Given the description of an element on the screen output the (x, y) to click on. 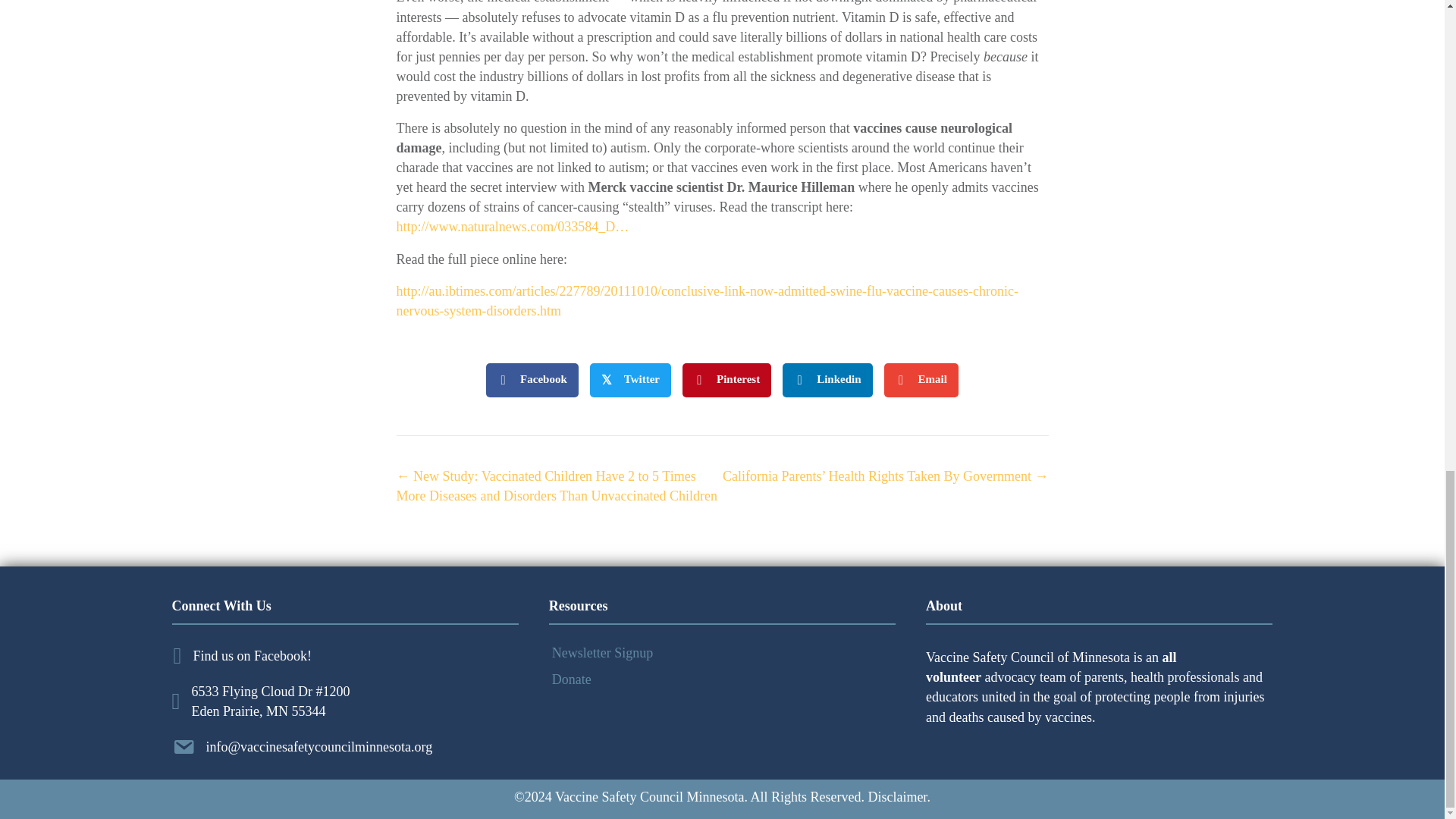
Facebook (532, 380)
Connect With Us (220, 605)
About (944, 605)
Resources (578, 605)
About (944, 605)
Pinterest (726, 380)
Donate (721, 679)
Disclaimer (896, 796)
Linkedin (827, 380)
Newsletter Signup (721, 652)
